Given the description of an element on the screen output the (x, y) to click on. 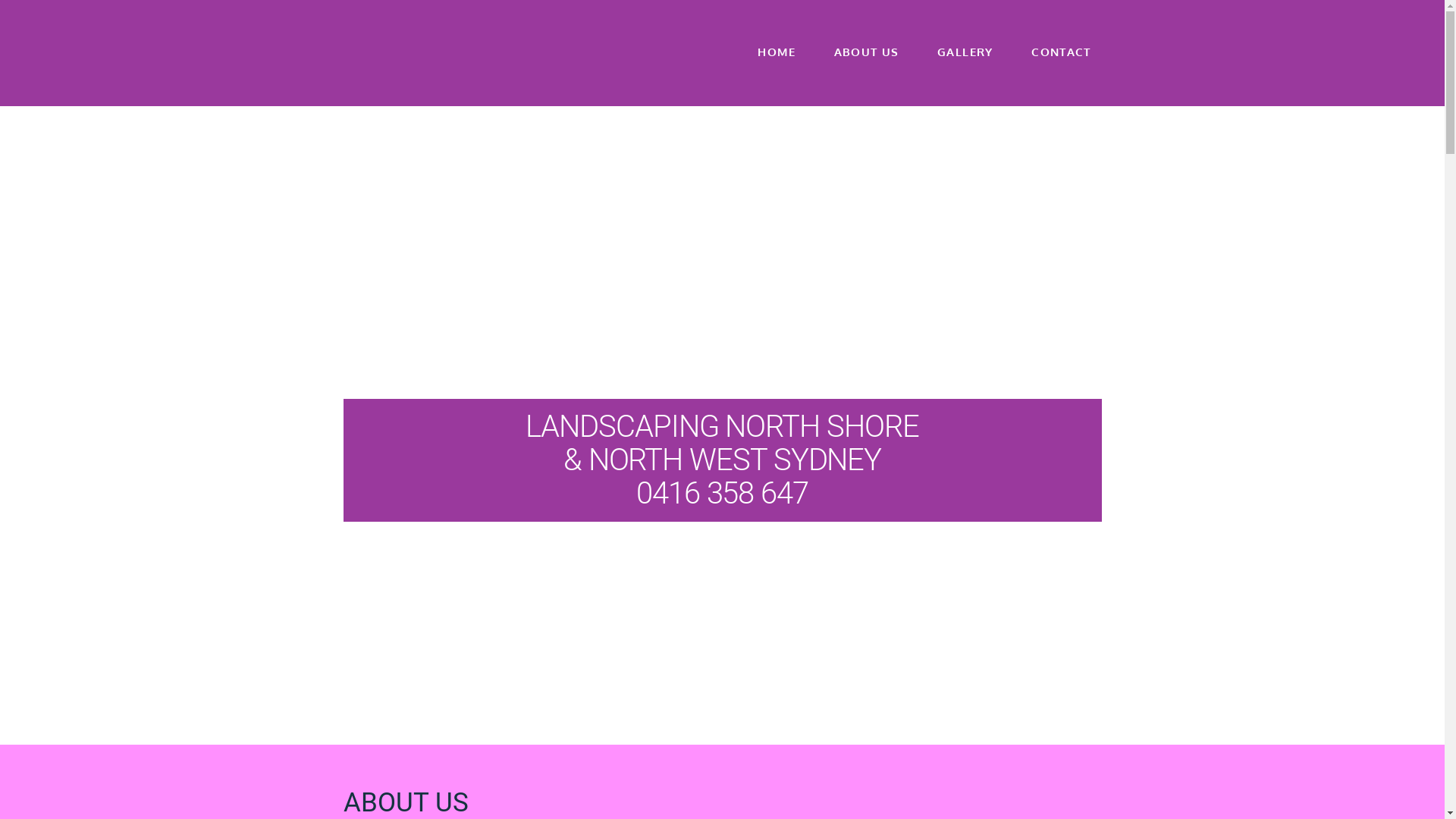
ABOUT US Element type: text (865, 64)
CONTACT Element type: text (1055, 64)
HOME Element type: text (775, 64)
GALLERY Element type: text (964, 64)
